Given the description of an element on the screen output the (x, y) to click on. 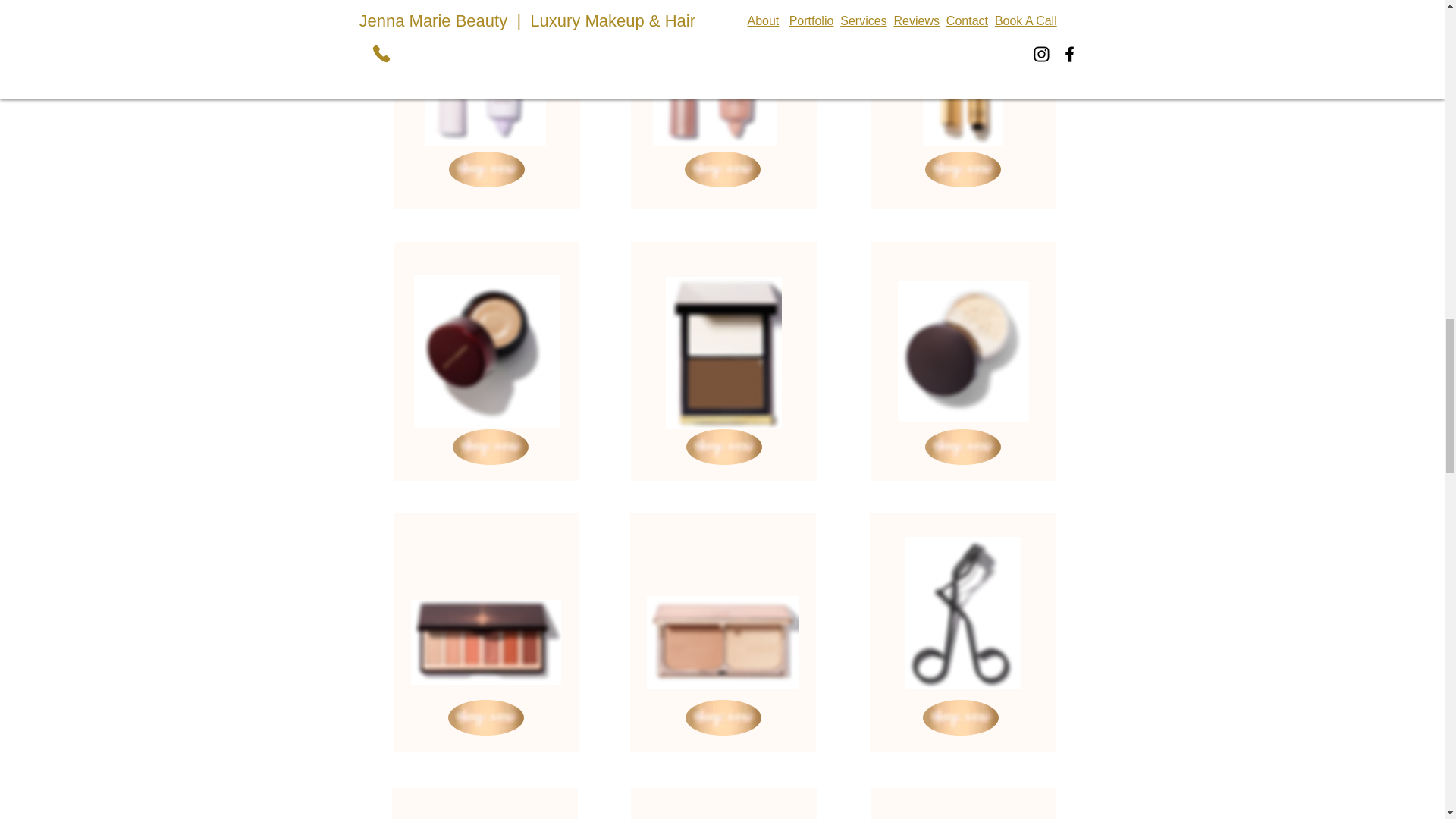
Screen Shot 2020-12-04 at 2.22.56 PM.png (486, 351)
Screen Shot 2020-12-04 at 2.47.54 PM.png (485, 641)
Screen Shot 2020-12-04 at 2.33.17 PM.png (721, 642)
